Given the description of an element on the screen output the (x, y) to click on. 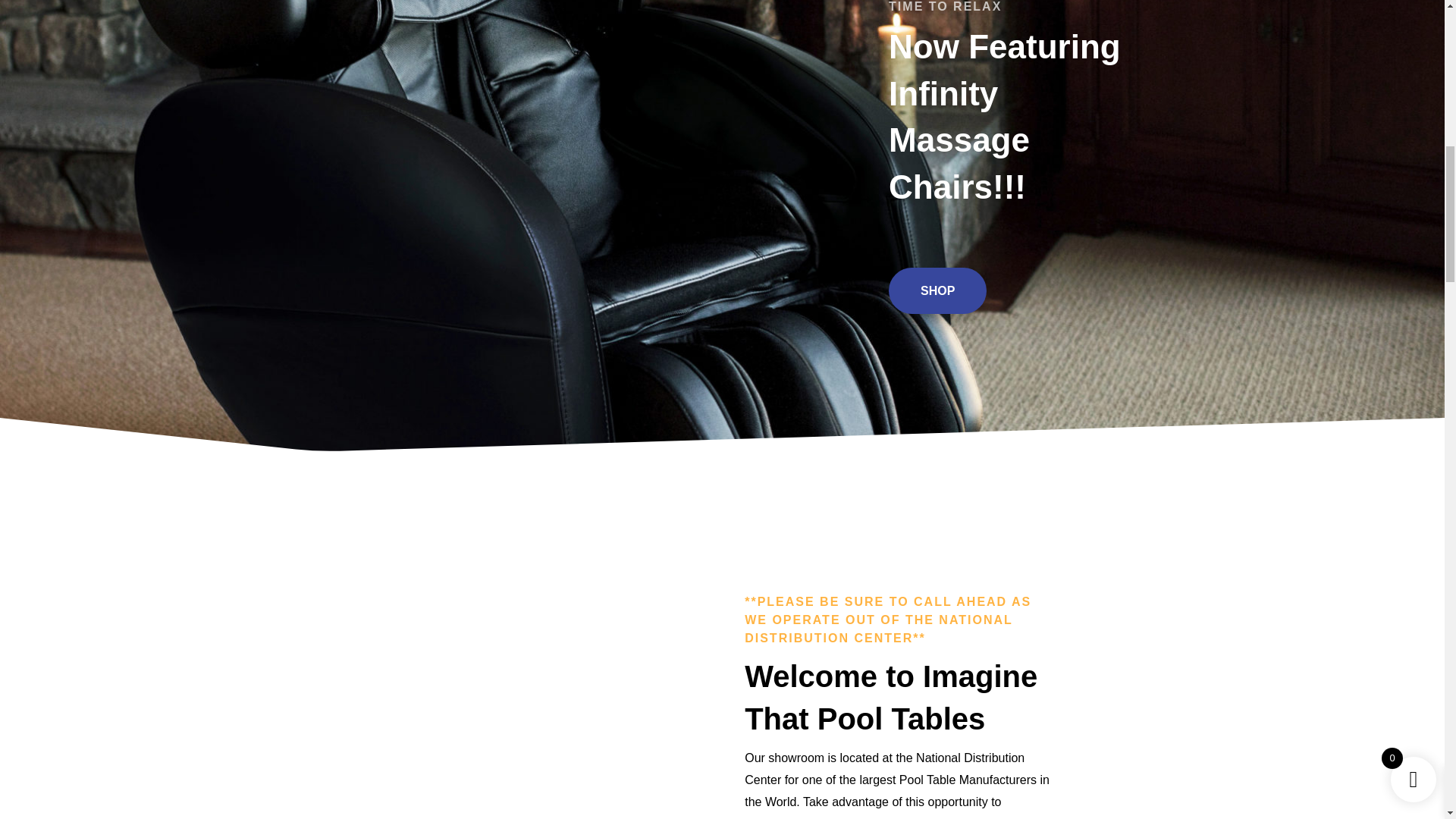
SHOP (937, 290)
